Given the description of an element on the screen output the (x, y) to click on. 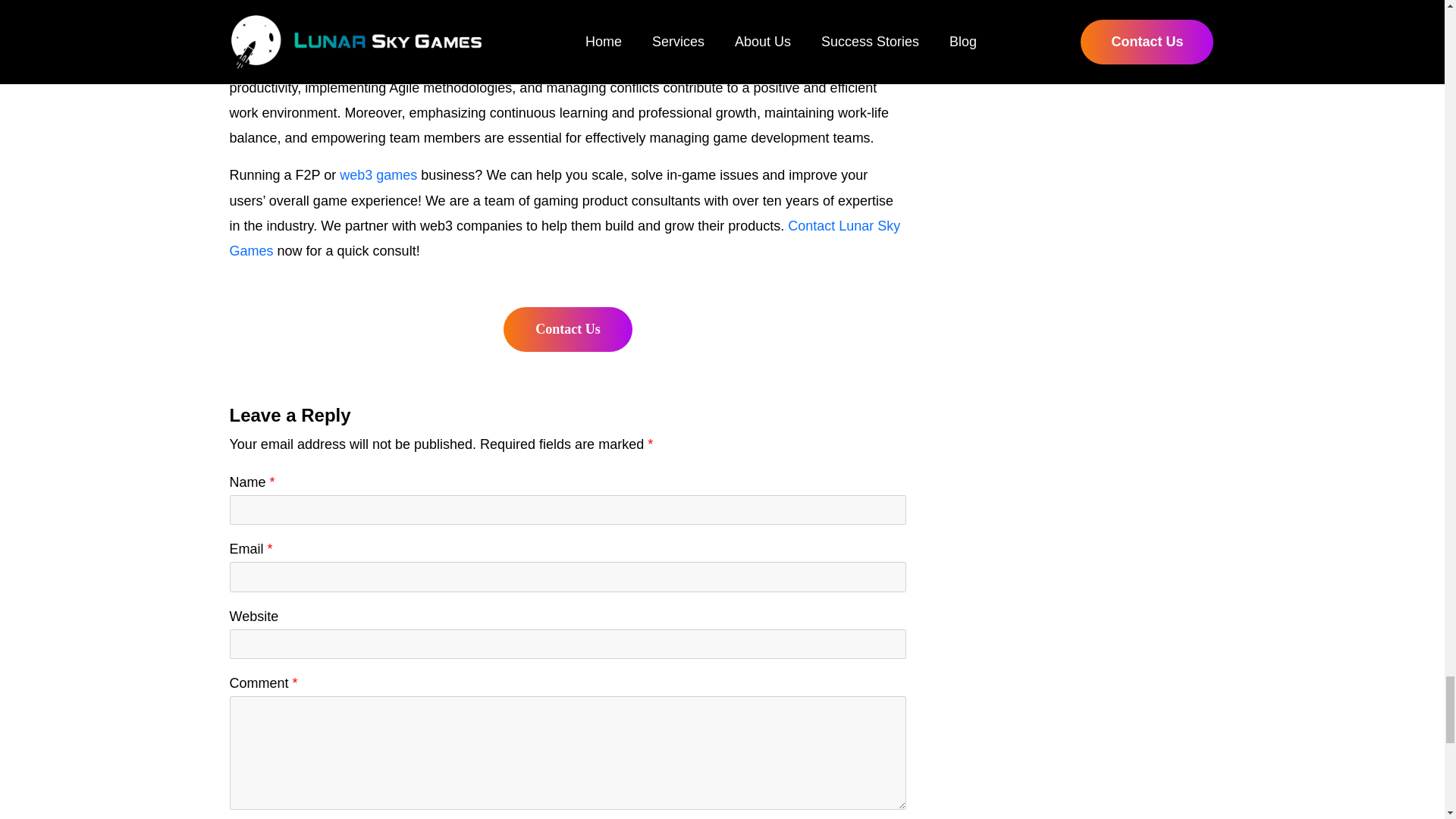
Contact Lunar Sky Games (563, 238)
Contact Us (567, 329)
web3 games (377, 174)
